Given the description of an element on the screen output the (x, y) to click on. 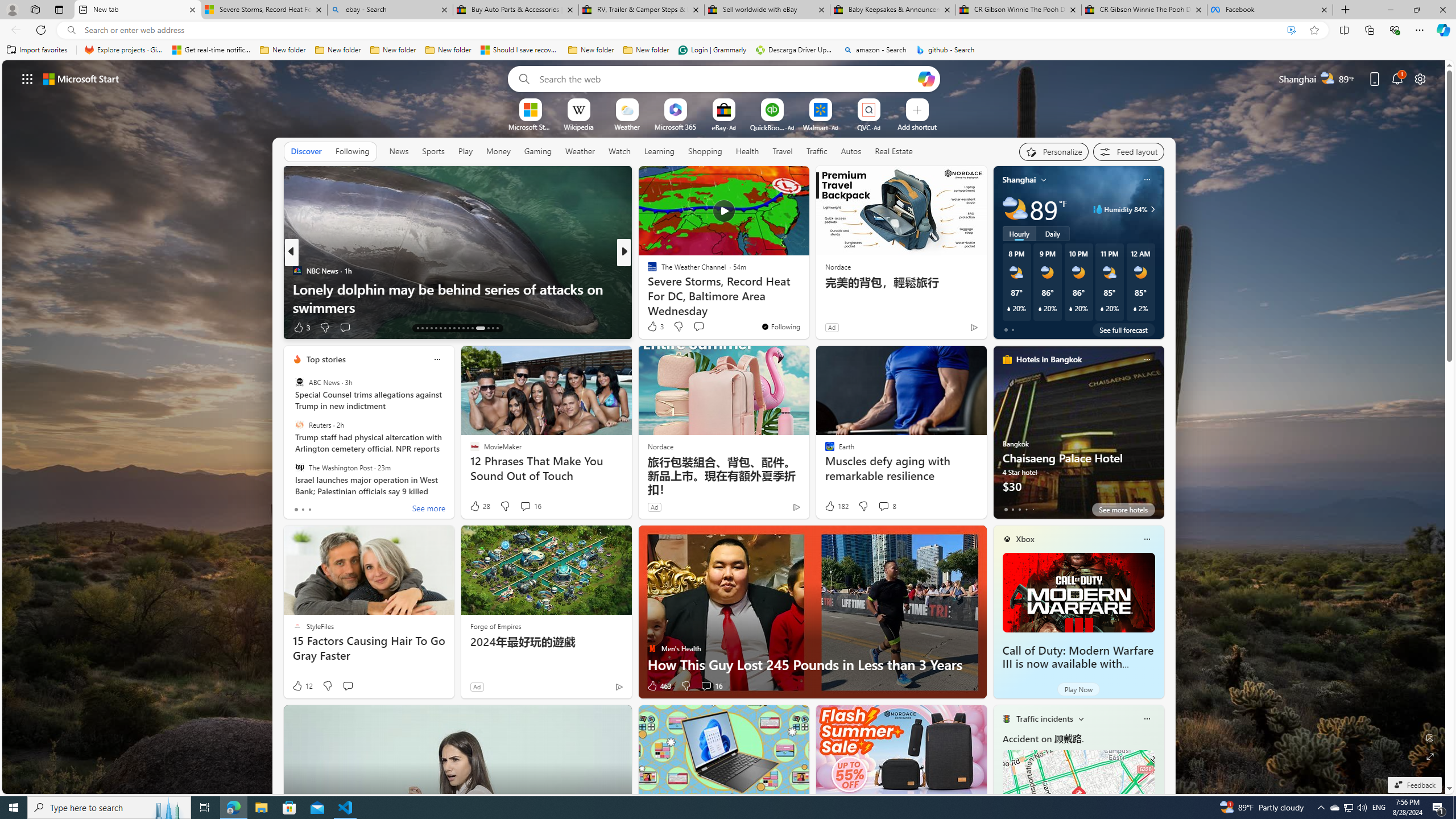
Favorites bar (728, 49)
Lonely dolphin may be behind series of attacks on swimmers (457, 298)
AutomationID: tab-20 (449, 328)
Partly cloudy (1014, 208)
App launcher (27, 78)
Feed settings (1128, 151)
View comments 16 Comment (710, 685)
Enhance video (1291, 29)
Reuters (299, 424)
